Given the description of an element on the screen output the (x, y) to click on. 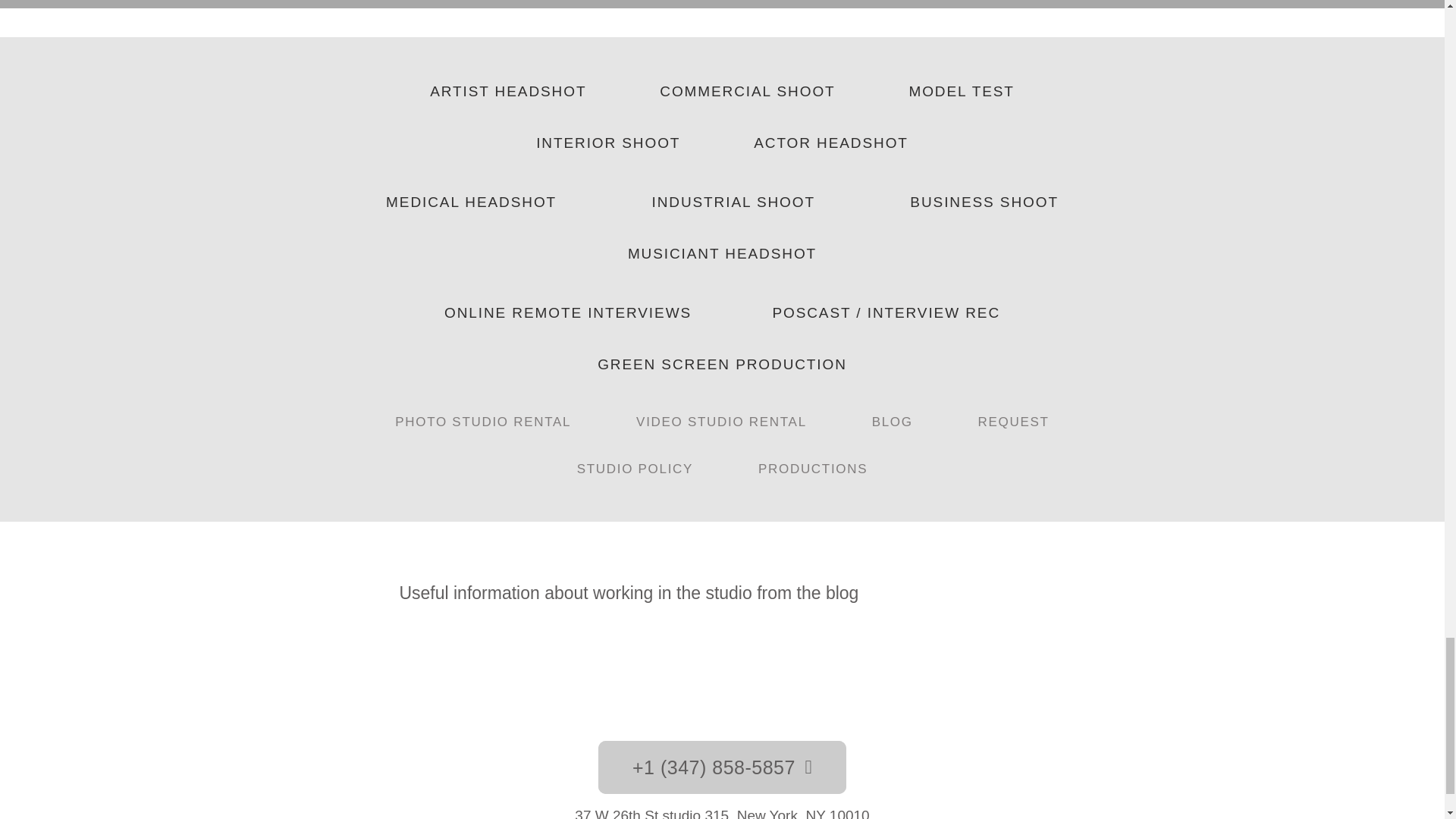
INTERIOR SHOOT (608, 143)
ONLINE REMOTE INTERVIEWS (568, 312)
MODEL TEST (961, 91)
BUSINESS SHOOT (983, 202)
ARTIST HEADSHOT (508, 91)
ACTOR HEADSHOT (831, 143)
INDUSTRIAL SHOOT (733, 202)
MEDICAL HEADSHOT (470, 202)
COMMERCIAL SHOOT (747, 91)
MUSICIANT HEADSHOT (722, 254)
